Given the description of an element on the screen output the (x, y) to click on. 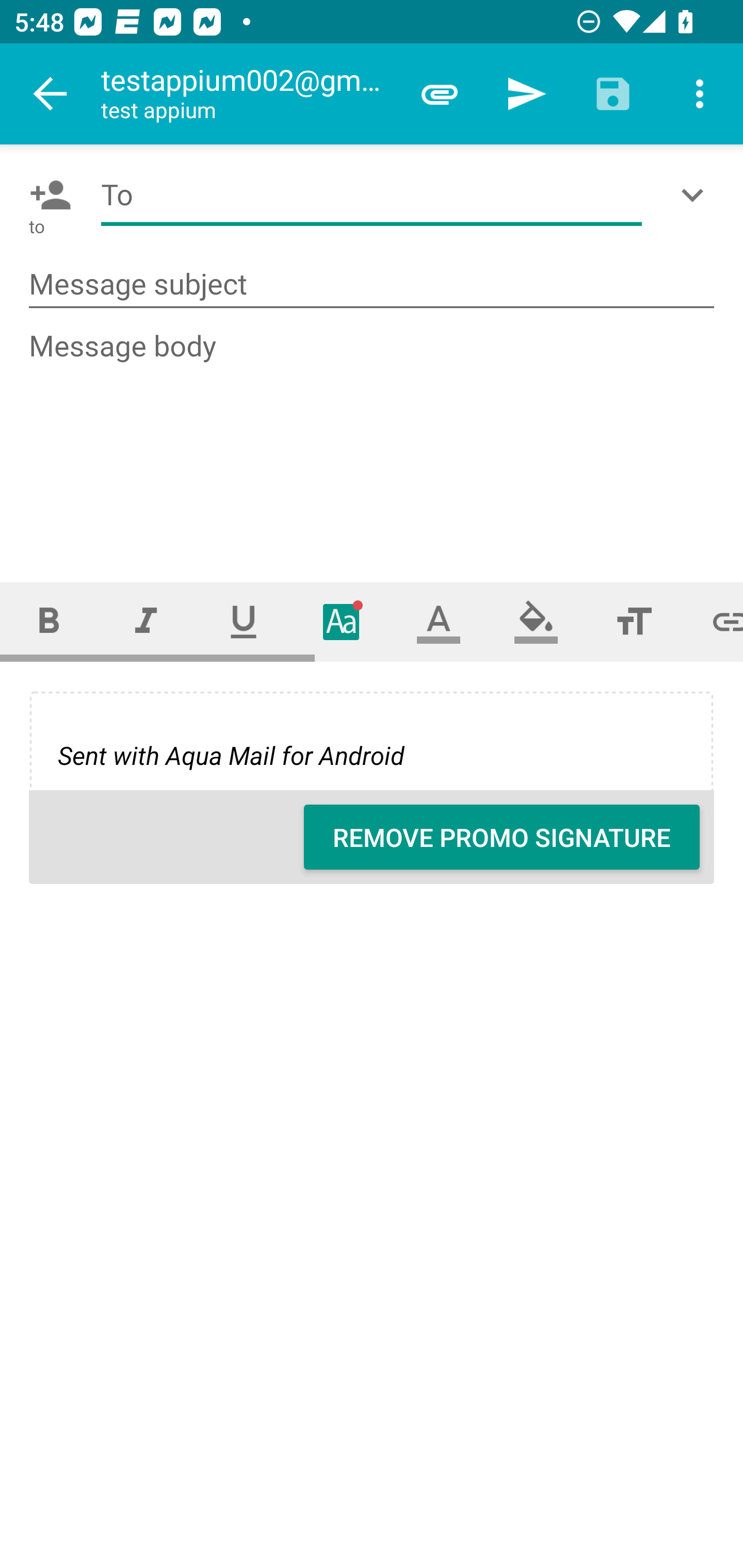
Navigate up (50, 93)
testappium002@gmail.com test appium (248, 93)
Attach (439, 93)
Send (525, 93)
Save (612, 93)
More options (699, 93)
Pick contact: To (46, 195)
Show/Add CC/BCC (696, 195)
To (371, 195)
Message subject (371, 284)
Bold (48, 621)
Italic (145, 621)
Underline (243, 621)
Typeface (font) (341, 621)
Text color (438, 621)
Fill color (536, 621)
Font size (633, 621)
Set link (712, 621)
REMOVE PROMO SIGNATURE (501, 837)
